Given the description of an element on the screen output the (x, y) to click on. 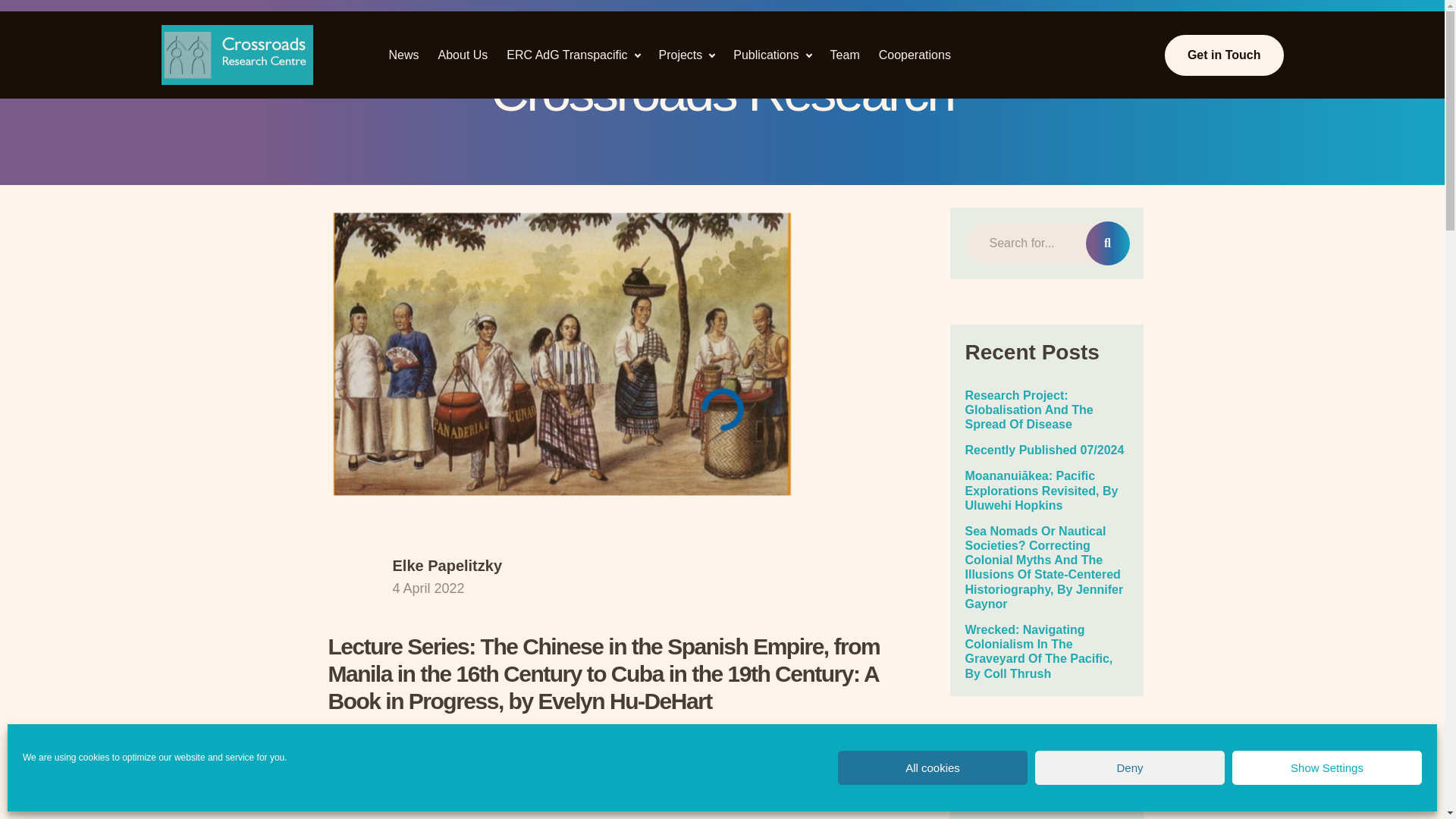
Projects (679, 54)
Publications (765, 54)
News (403, 54)
About Us (462, 54)
All cookies (932, 767)
ERC AdG Transpacific (566, 54)
Show Settings (1326, 767)
Team (844, 54)
Deny (1129, 767)
